Given the description of an element on the screen output the (x, y) to click on. 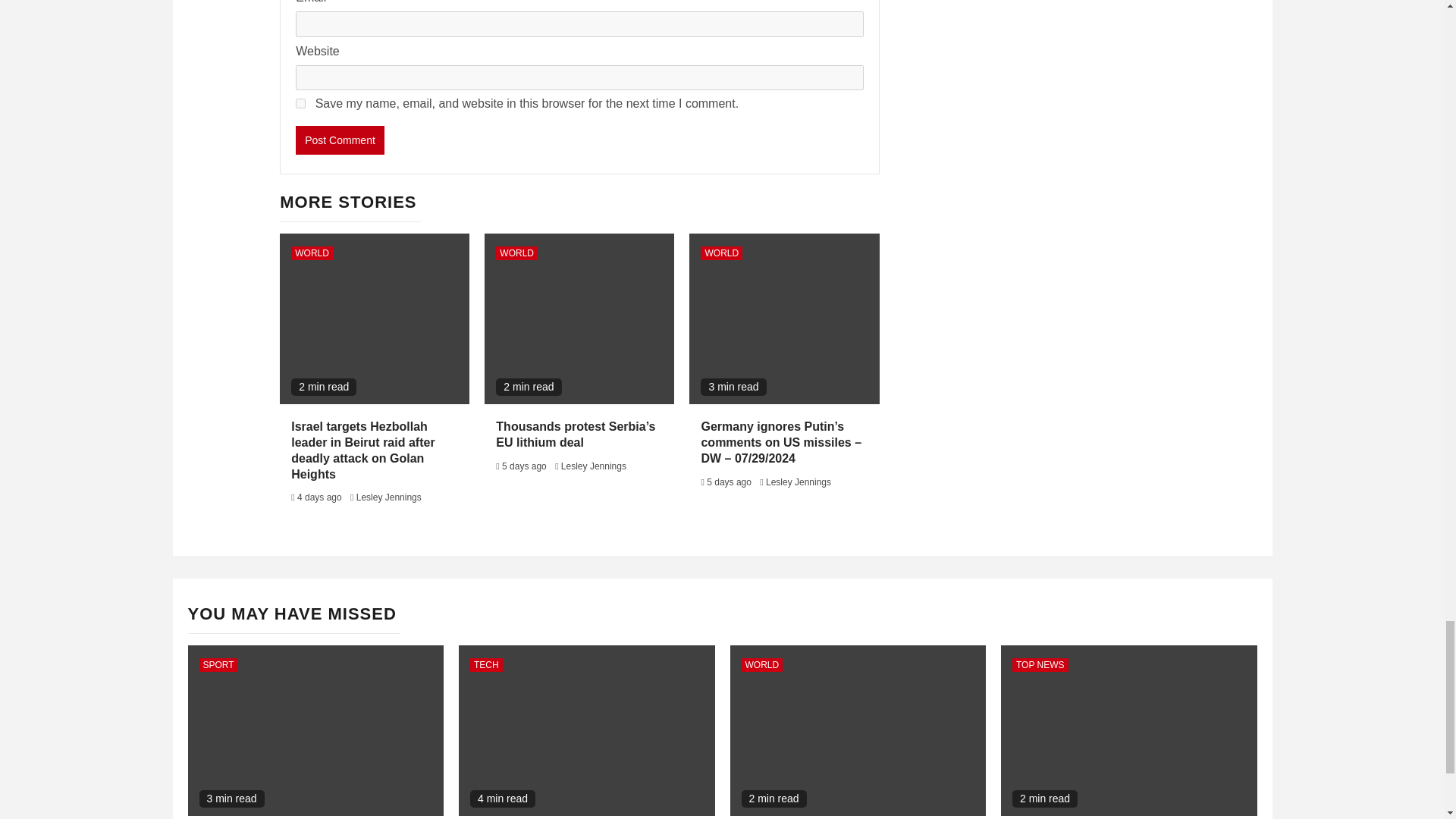
WORLD (516, 253)
Lesley Jennings (389, 497)
WORLD (312, 253)
yes (300, 103)
WORLD (721, 253)
Post Comment (339, 140)
Post Comment (339, 140)
Lesley Jennings (593, 466)
